Given the description of an element on the screen output the (x, y) to click on. 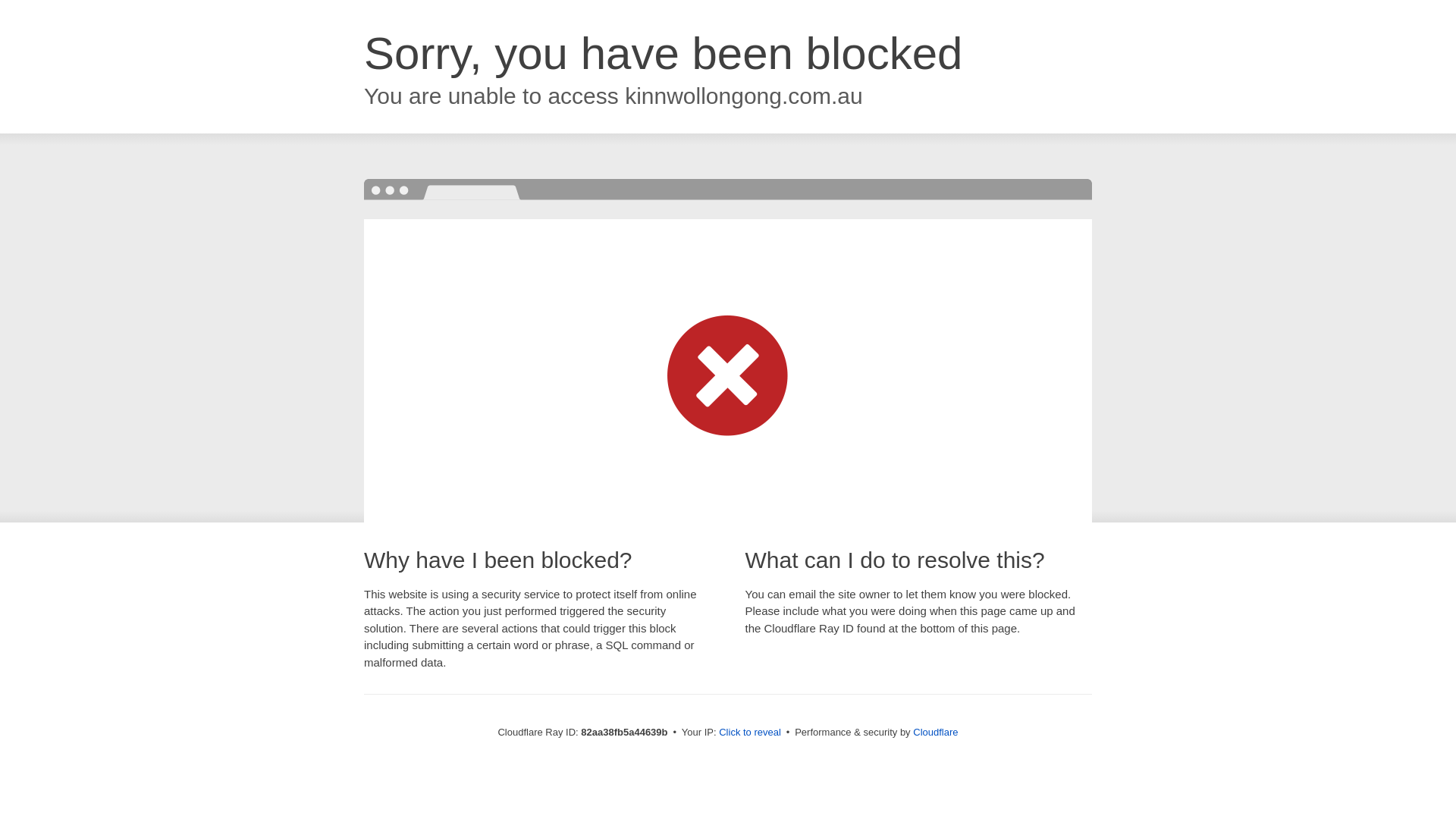
Click to reveal Element type: text (749, 732)
Cloudflare Element type: text (935, 731)
